Given the description of an element on the screen output the (x, y) to click on. 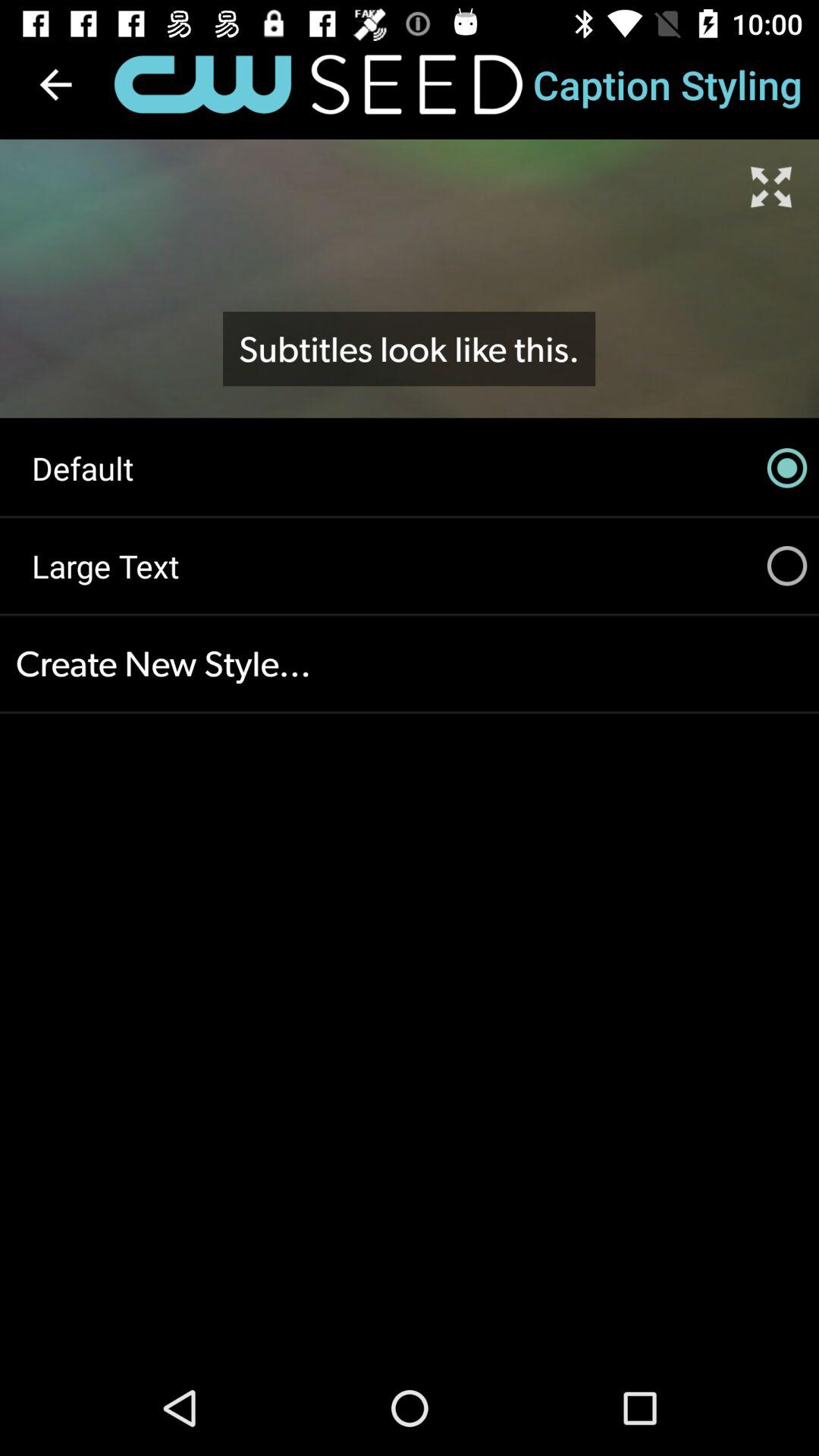
turn off the item below large text item (409, 663)
